Given the description of an element on the screen output the (x, y) to click on. 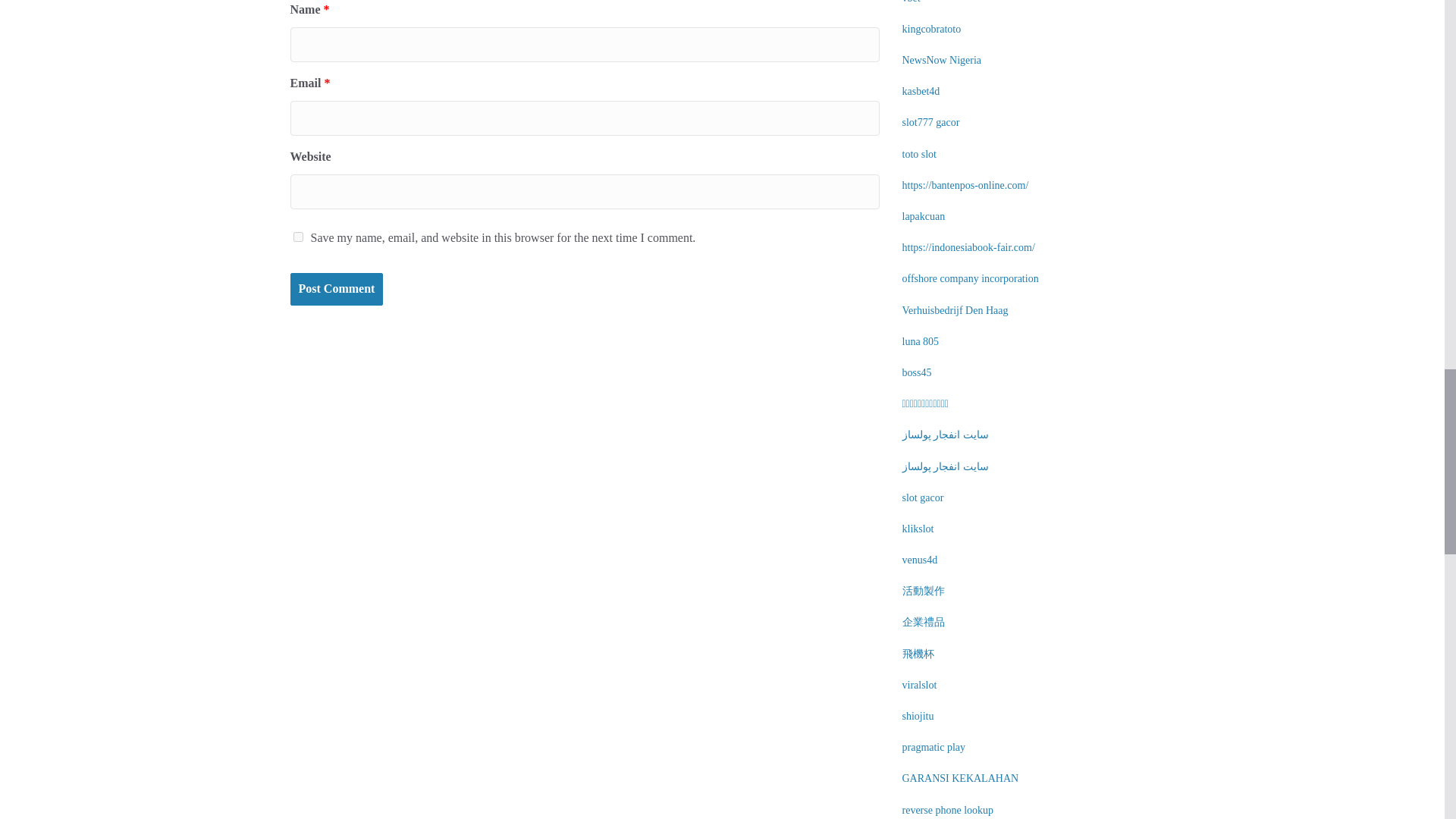
Post Comment (335, 288)
Post Comment (335, 288)
yes (297, 236)
